Given the description of an element on the screen output the (x, y) to click on. 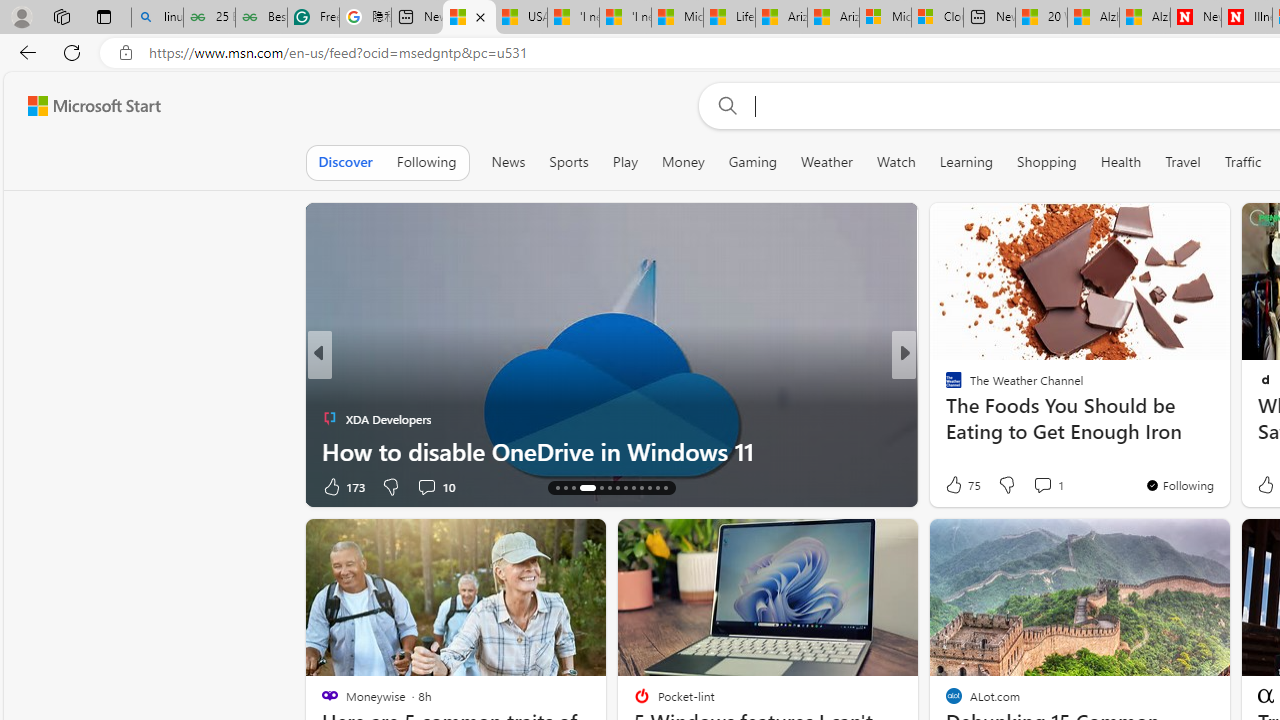
AutomationID: tab-23 (641, 487)
View comments 5 Comment (1041, 486)
You're following The Weather Channel (1179, 485)
View comments 9 Comment (1042, 485)
Million Dollar Sense (944, 386)
USA TODAY - MSN (520, 17)
Newsweek - News, Analysis, Politics, Business, Technology (1196, 17)
View comments 10 Comment (435, 486)
